Given the description of an element on the screen output the (x, y) to click on. 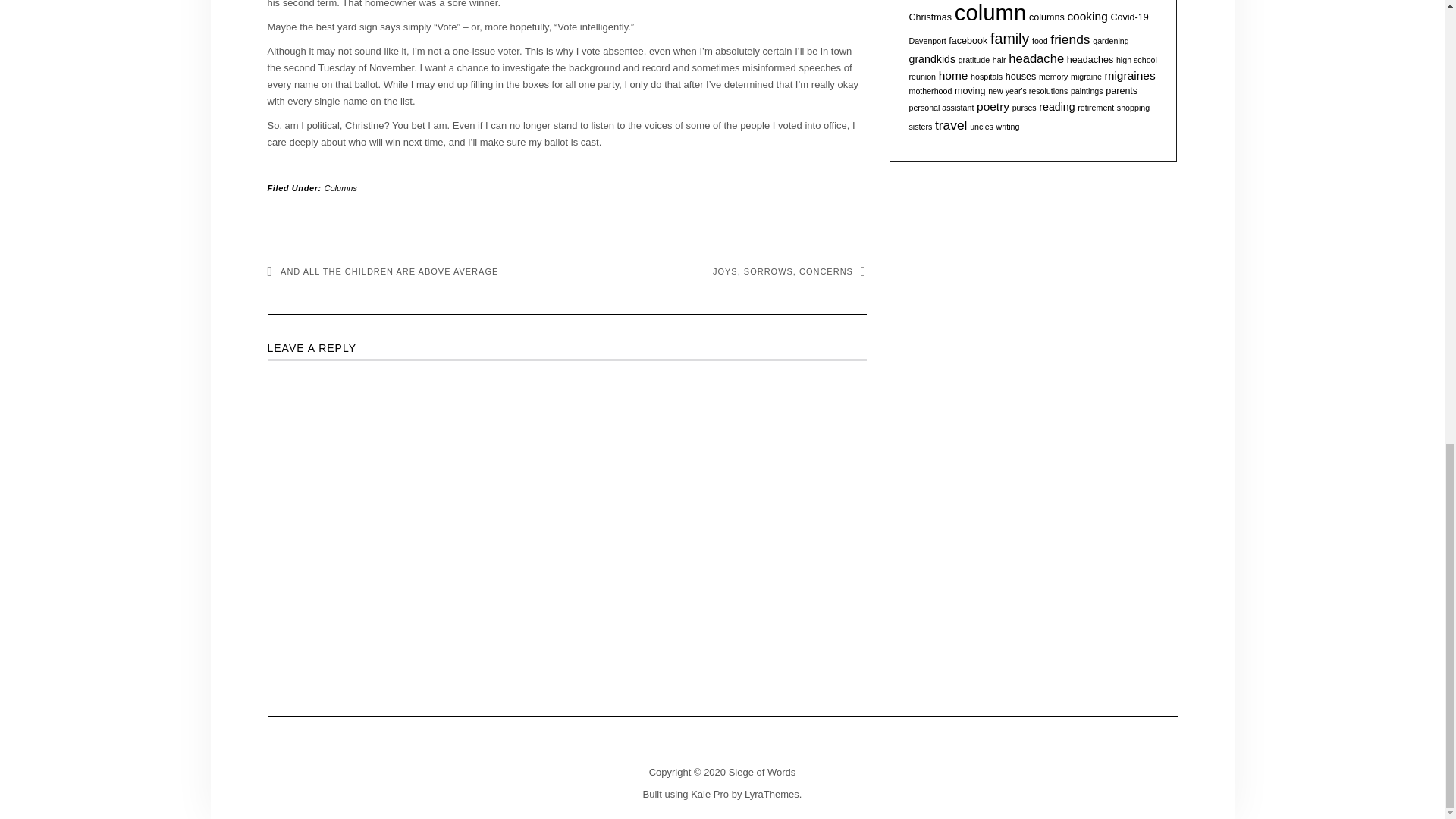
Christmas (930, 17)
cooking (1086, 15)
Columns (340, 187)
columns (1046, 17)
JOYS, SORROWS, CONCERNS (789, 271)
column (990, 12)
Covid-19 (1128, 17)
AND ALL THE CHILDREN ARE ABOVE AVERAGE (381, 271)
